Given the description of an element on the screen output the (x, y) to click on. 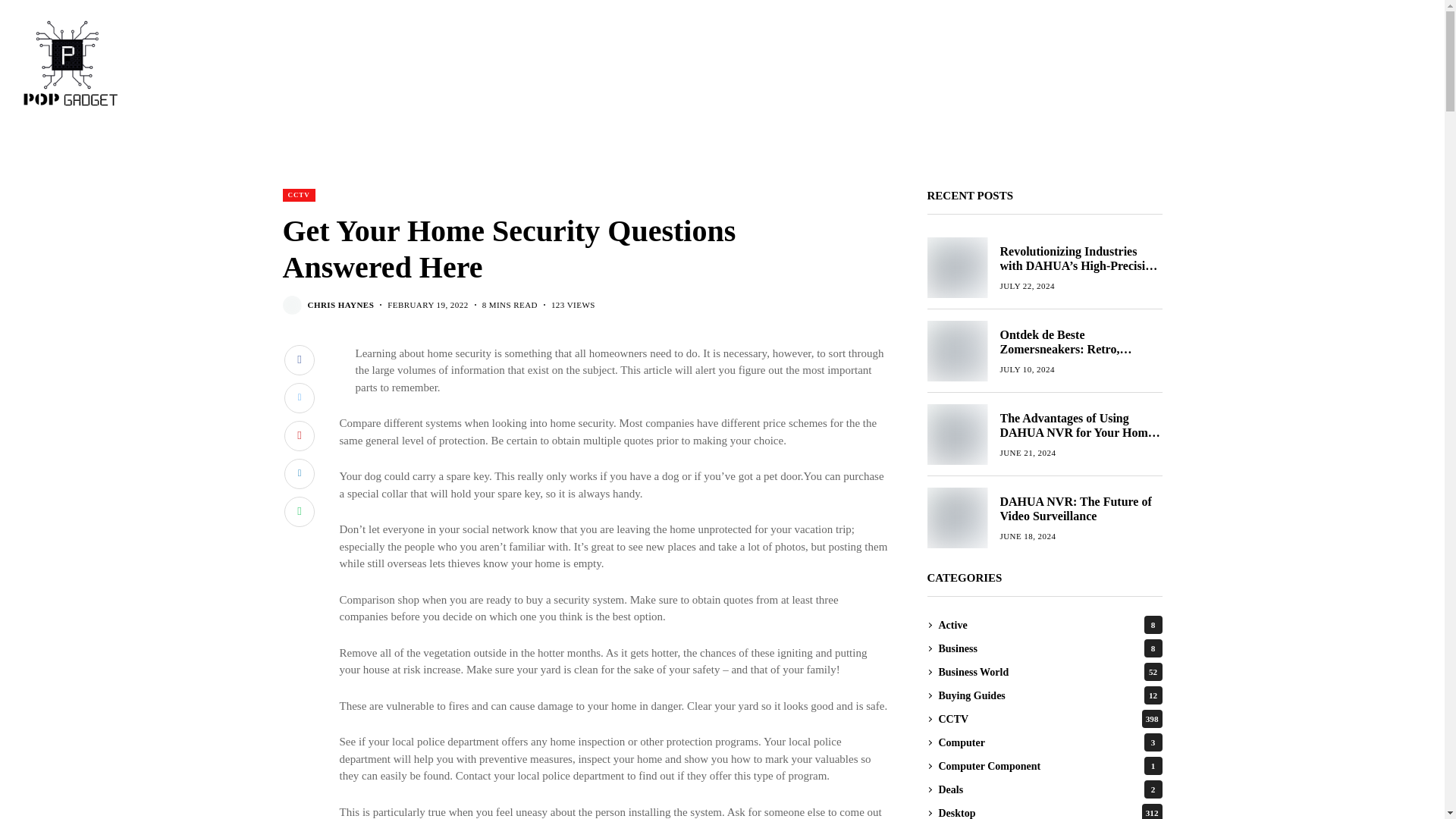
CCTV (396, 141)
Motorcycle (690, 141)
Desktop (1043, 141)
Sports (620, 141)
DAHUA NVR: The Future of Video Surveillance (956, 517)
Laptop (979, 141)
Gaming (457, 141)
The Advantages of Using DAHUA NVR for Your Home Security (956, 434)
Posts by Chris Haynes (340, 305)
